Given the description of an element on the screen output the (x, y) to click on. 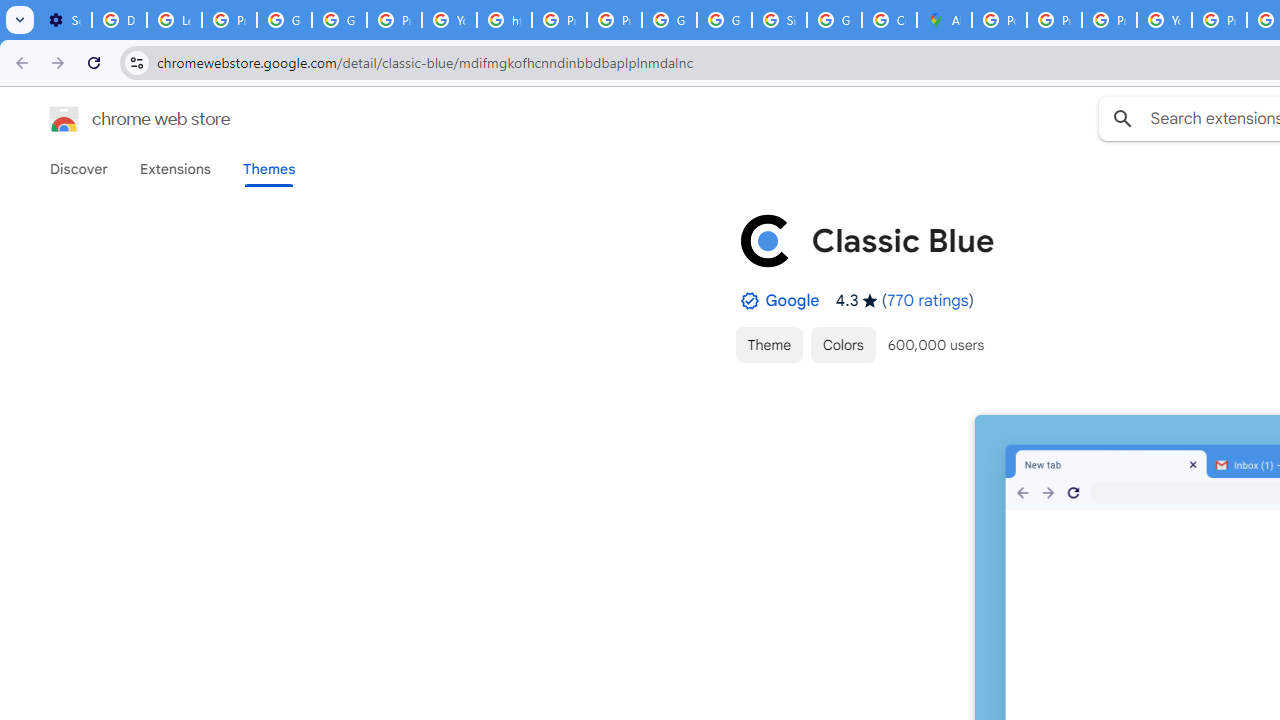
YouTube (1163, 20)
Chrome Web Store logo chrome web store (118, 118)
Settings - On startup (64, 20)
YouTube (449, 20)
Privacy Help Center - Policies Help (1053, 20)
Extensions (174, 169)
